Given the description of an element on the screen output the (x, y) to click on. 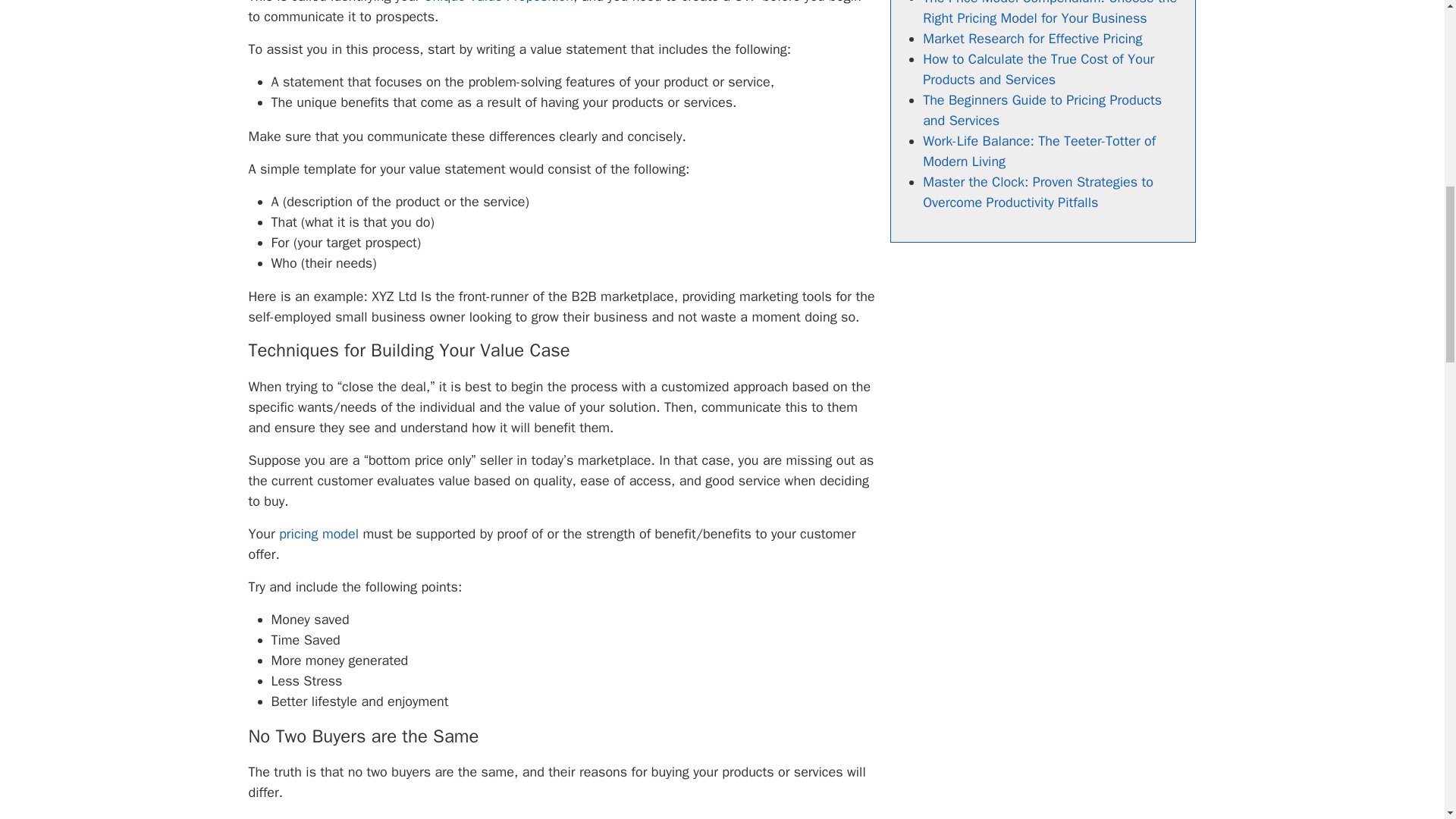
Market Research for Effective Pricing (1032, 38)
How to Calculate the True Cost of Your Products and Services (1038, 68)
Unique Value Proposition (498, 2)
pricing model (318, 533)
The Beginners Guide to Pricing Products and Services (1042, 109)
Work-Life Balance: The Teeter-Totter of Modern Living (1039, 150)
